Given the description of an element on the screen output the (x, y) to click on. 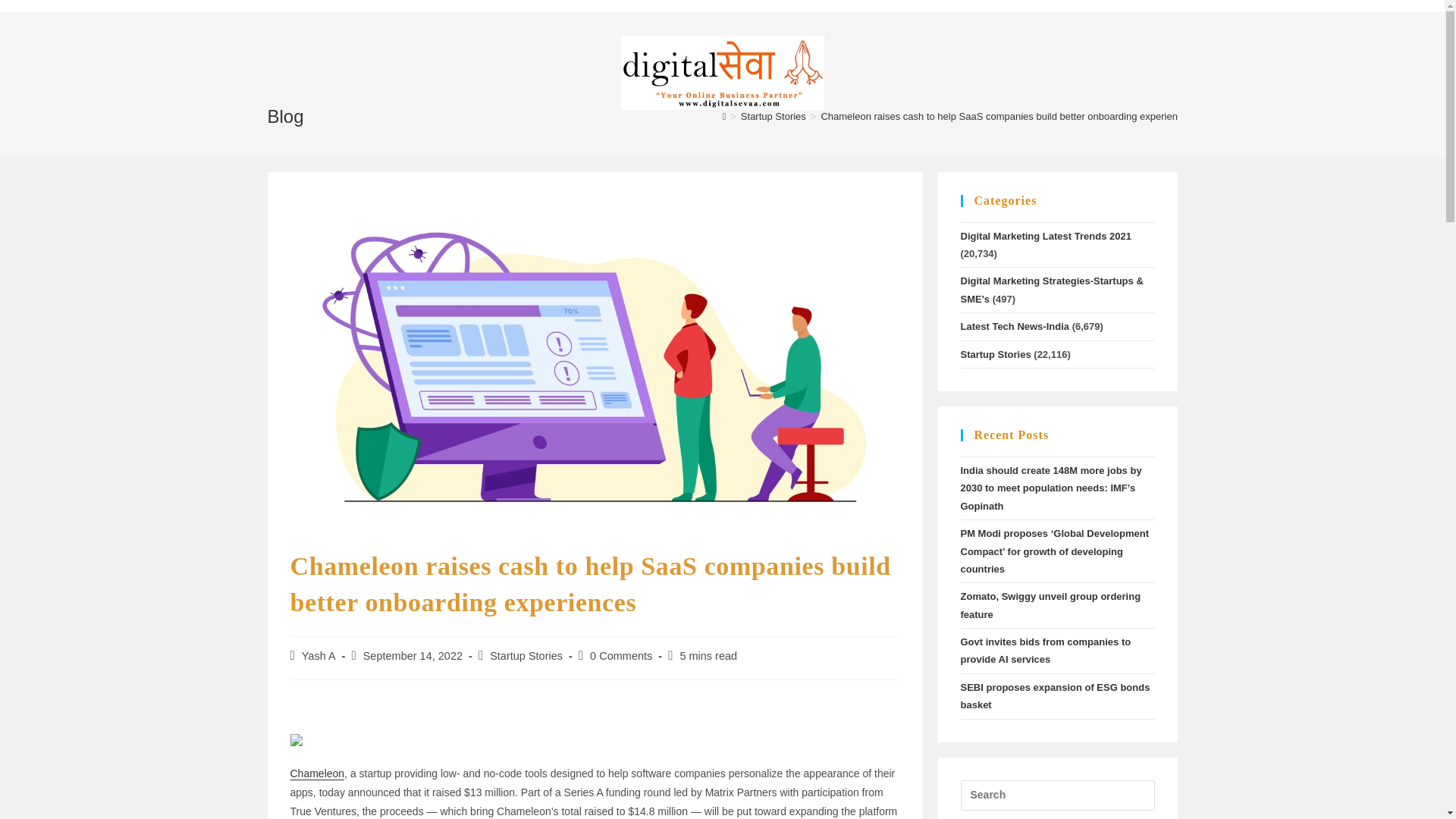
Startup Stories (525, 655)
0 Comments (620, 655)
Latest Tech News-India (1013, 326)
Yash A (318, 655)
Startup Stories (773, 116)
Posts by Yash A (318, 655)
Chameleon (316, 773)
Digital Marketing Latest Trends 2021 (1045, 235)
